Given the description of an element on the screen output the (x, y) to click on. 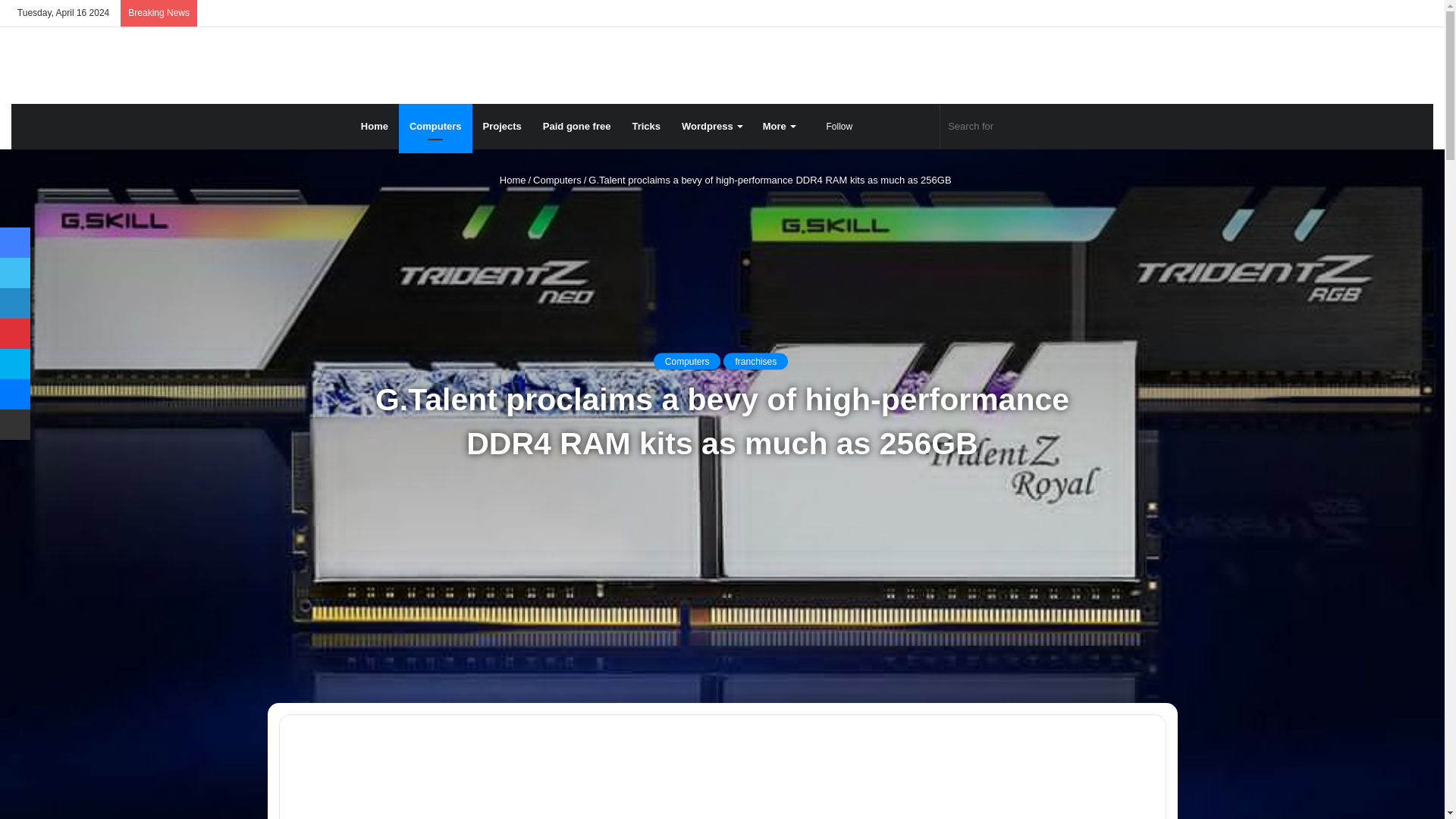
Follow (834, 126)
Computers (434, 126)
More (778, 126)
Projects (501, 126)
Home (374, 126)
Tricks (646, 126)
Paid gone free (576, 126)
Wordpress (711, 126)
Search for (1017, 126)
